Given the description of an element on the screen output the (x, y) to click on. 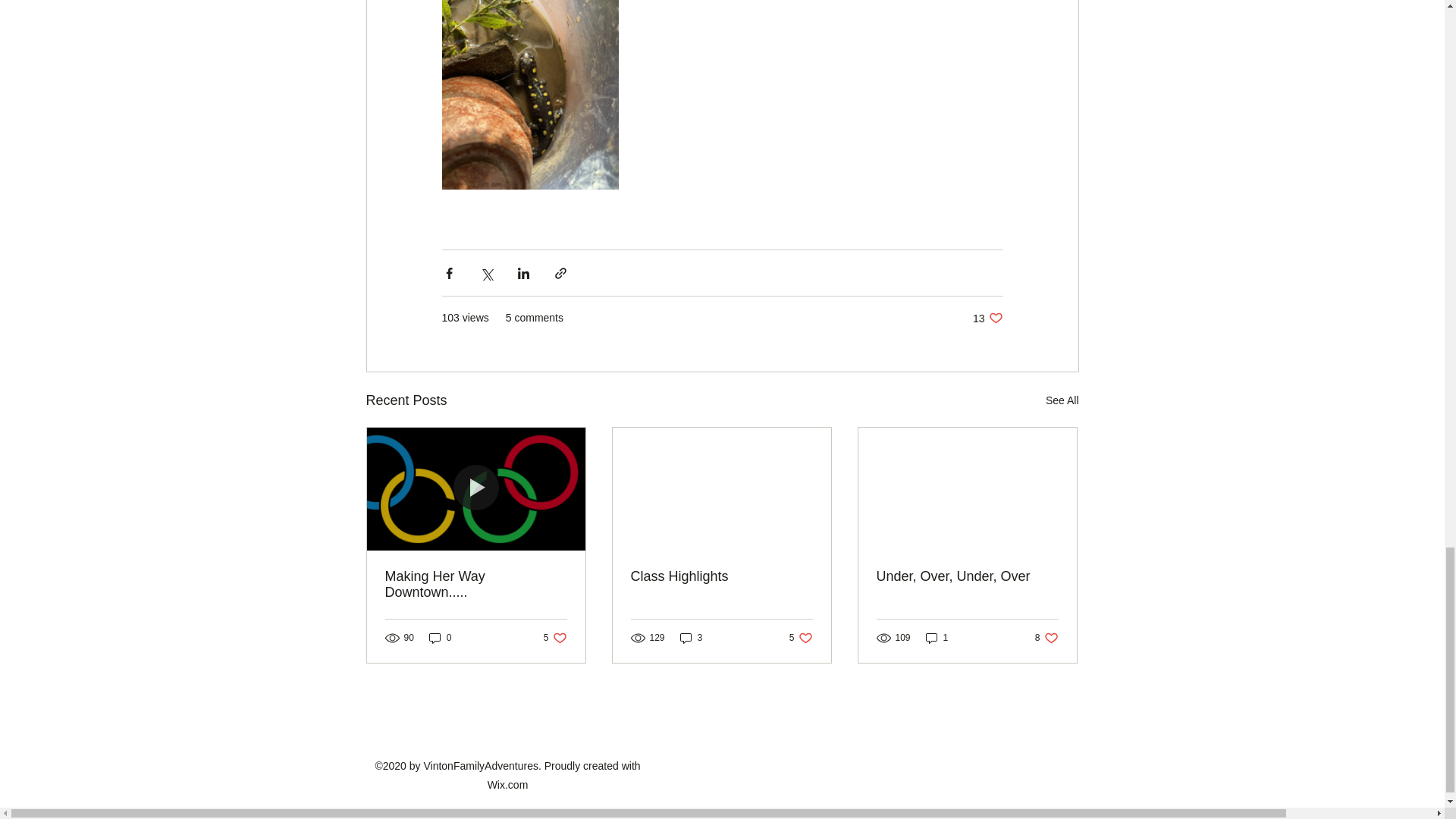
3 (555, 637)
Making Her Way Downtown..... (691, 637)
Class Highlights (476, 584)
See All (800, 637)
Under, Over, Under, Over (721, 576)
1 (1046, 637)
